Given the description of an element on the screen output the (x, y) to click on. 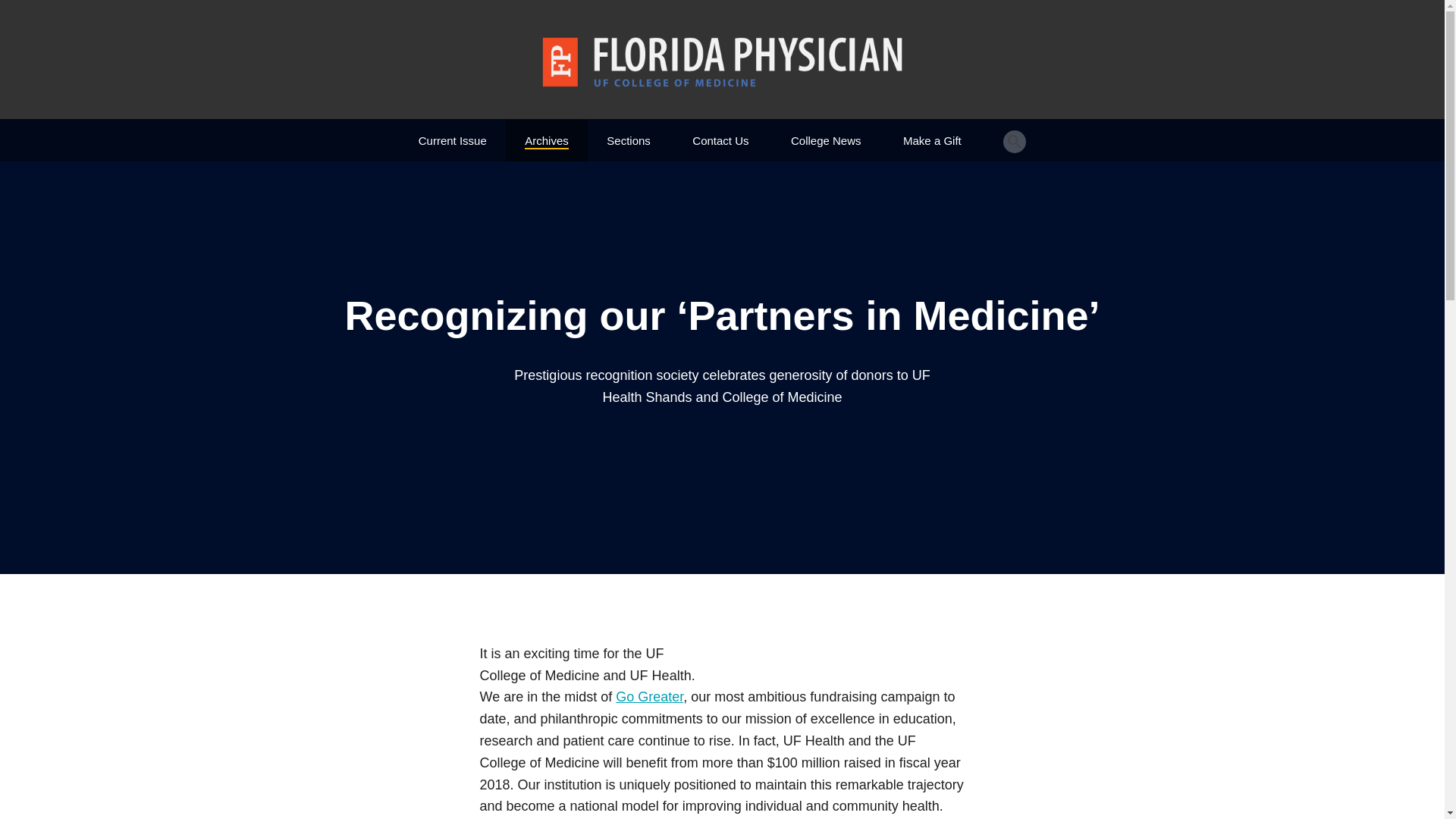
Contact Us (720, 133)
Current Issue (452, 133)
Make a Gift (931, 133)
Florida Physician - Home (722, 61)
Go Greater (648, 696)
College News (825, 133)
Sections (628, 133)
Archives (546, 133)
